Given the description of an element on the screen output the (x, y) to click on. 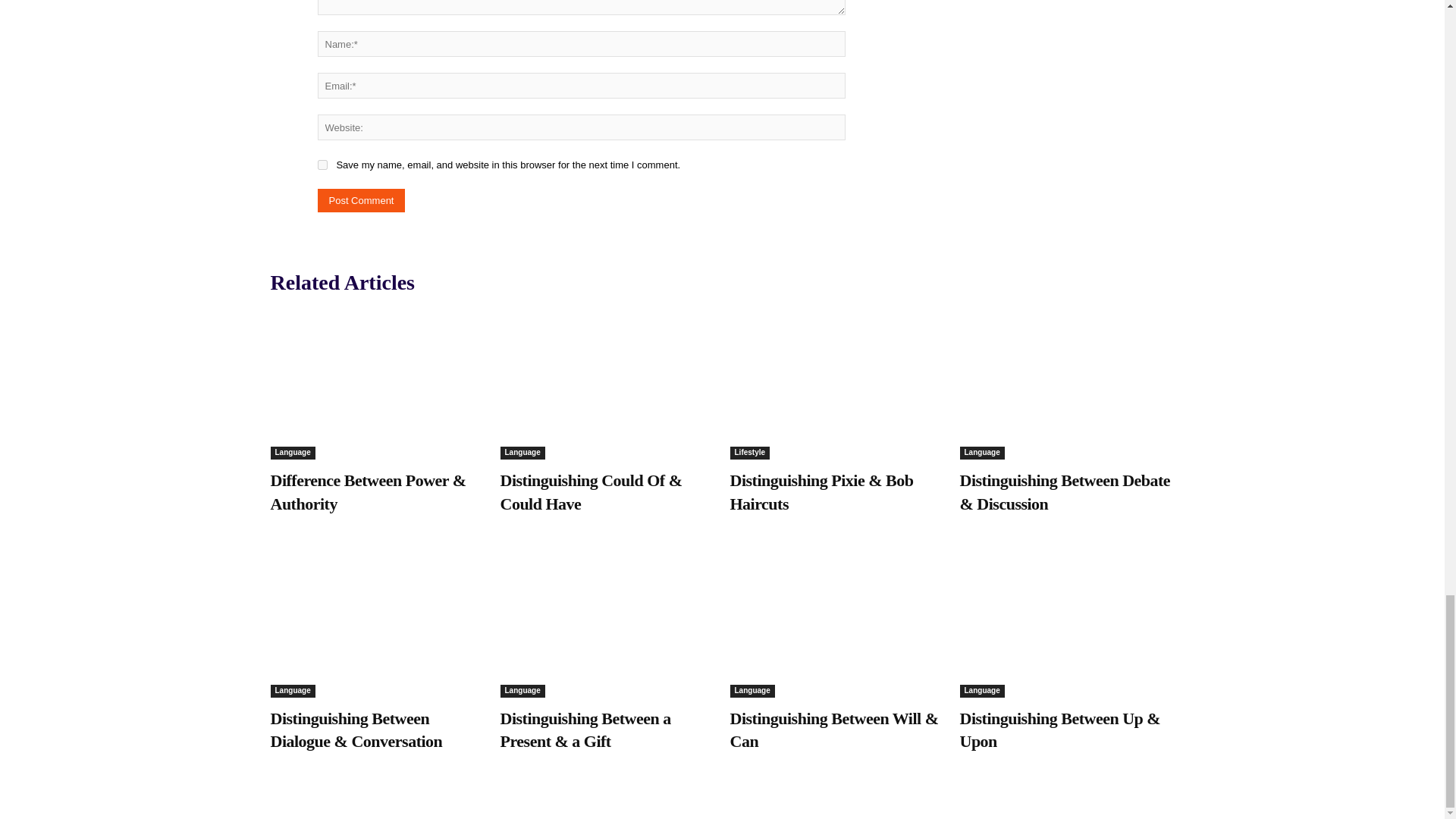
Post Comment (360, 200)
yes (321, 164)
